Given the description of an element on the screen output the (x, y) to click on. 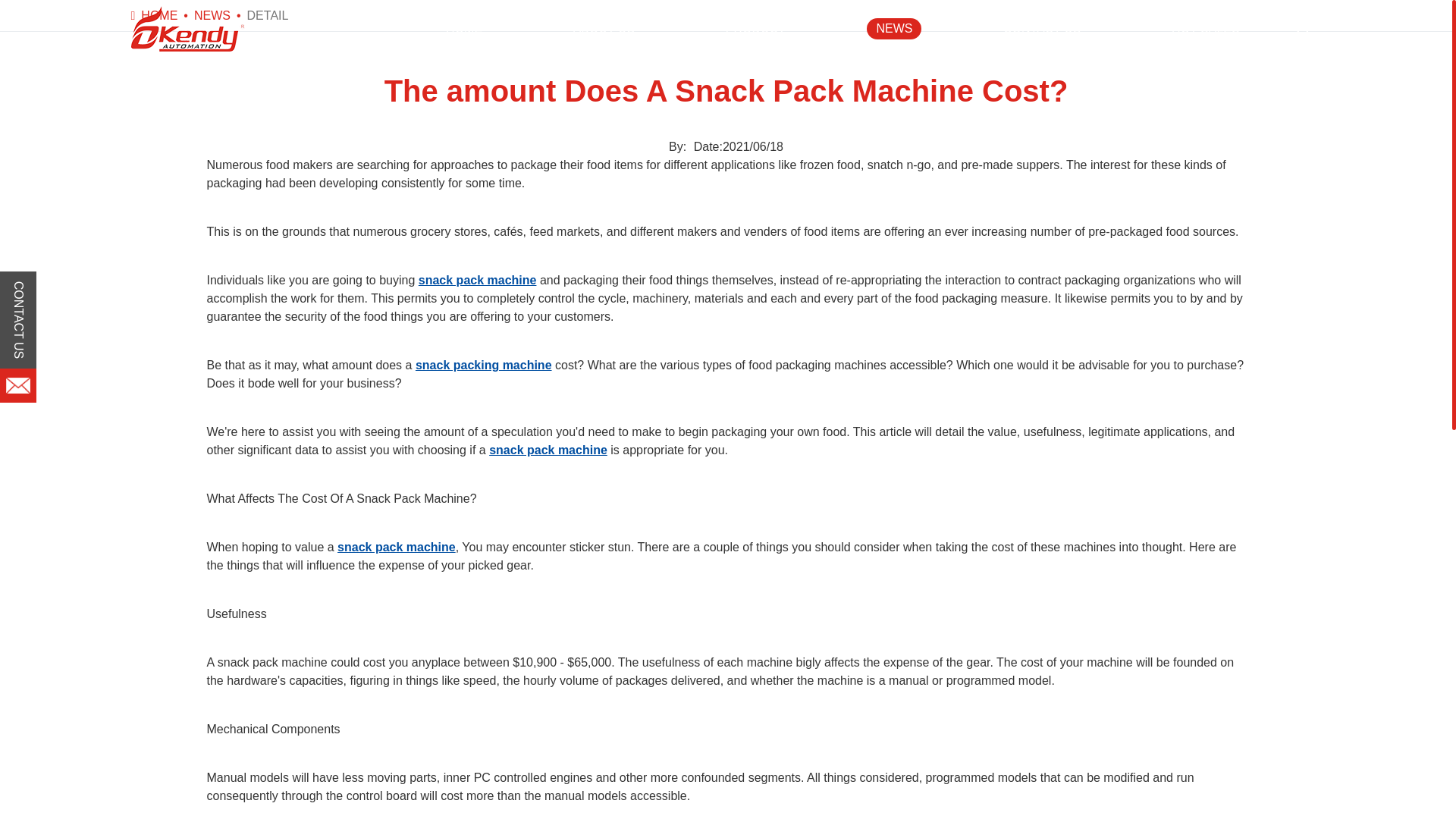
HOME (159, 15)
snack pack machine (478, 279)
HOT SALES (1205, 29)
snack pack machine (548, 449)
ABOUT US (604, 29)
NEWS (211, 15)
PRODUCT (755, 29)
CONTACT US (1042, 29)
snack pack machine (396, 546)
snack packing machine (482, 364)
